Given the description of an element on the screen output the (x, y) to click on. 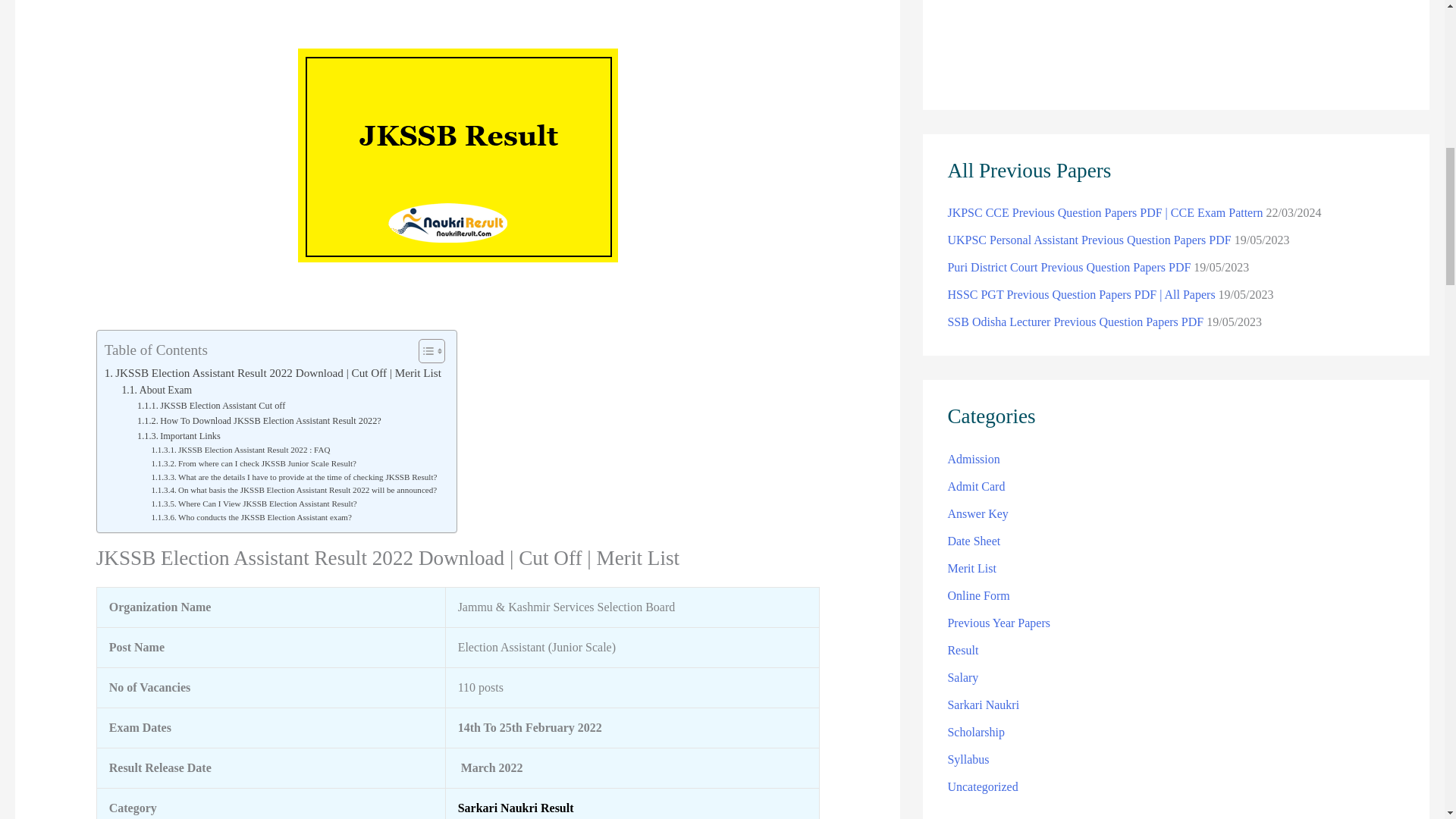
Advertisement (457, 21)
Who conducts the JKSSB Election Assistant exam? (250, 517)
JKSSB Election Assistant Result 2022 : FAQ (240, 450)
How To Download JKSSB Election Assistant Result 2022? (258, 421)
JKSSB Election Assistant Cut off (210, 406)
From where can I check JKSSB Junior Scale Result? (253, 463)
About Exam  (158, 390)
